Given the description of an element on the screen output the (x, y) to click on. 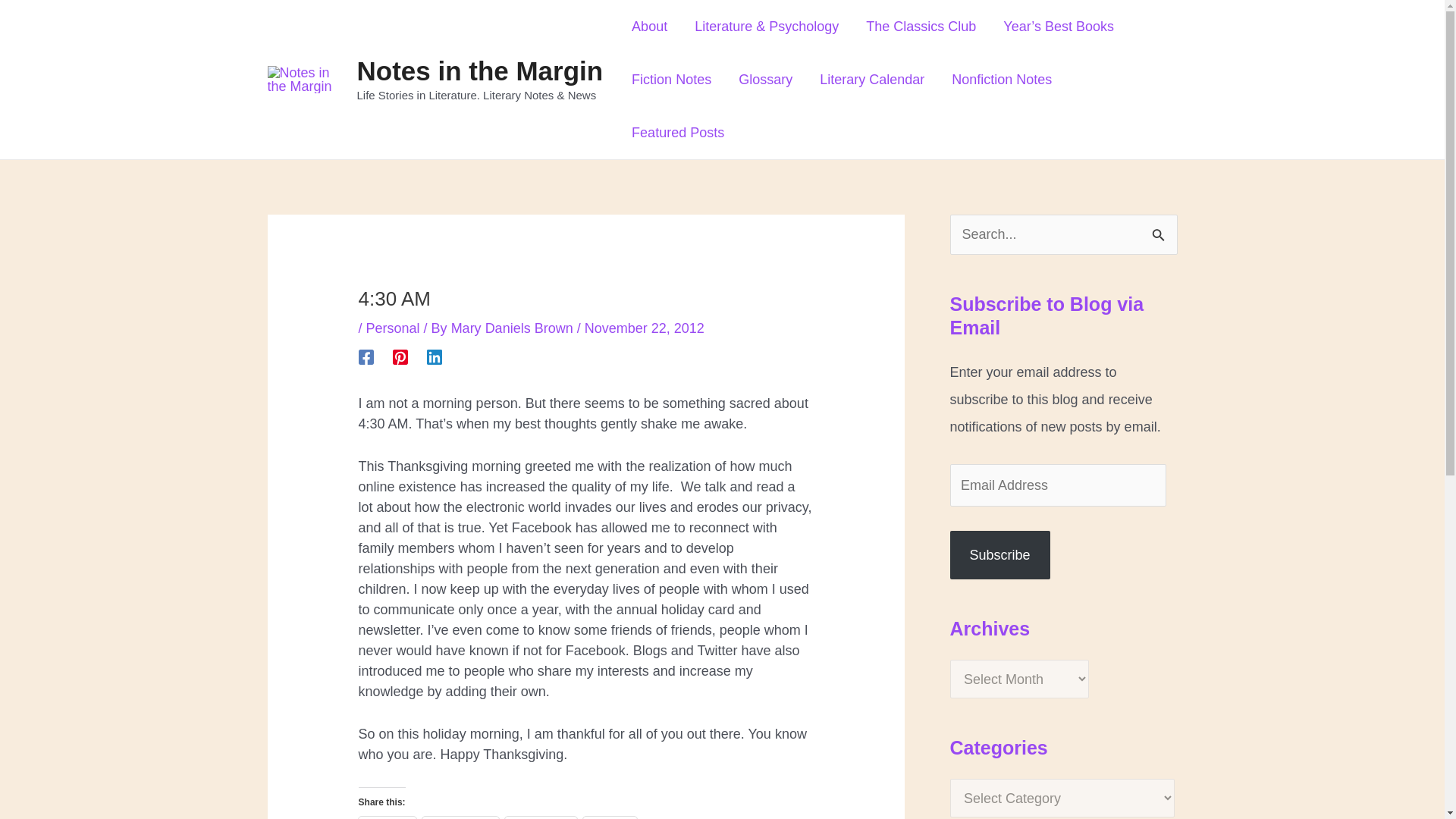
Mastodon (460, 817)
Literary Calendar (871, 79)
Click to print (610, 817)
Fiction Notes (671, 79)
Glossary (765, 79)
Email (387, 817)
Nonfiction Notes (1001, 79)
View all posts by Mary Daniels Brown (513, 328)
Click to share on Pinterest (540, 817)
Notes in the Margin (479, 70)
